Given the description of an element on the screen output the (x, y) to click on. 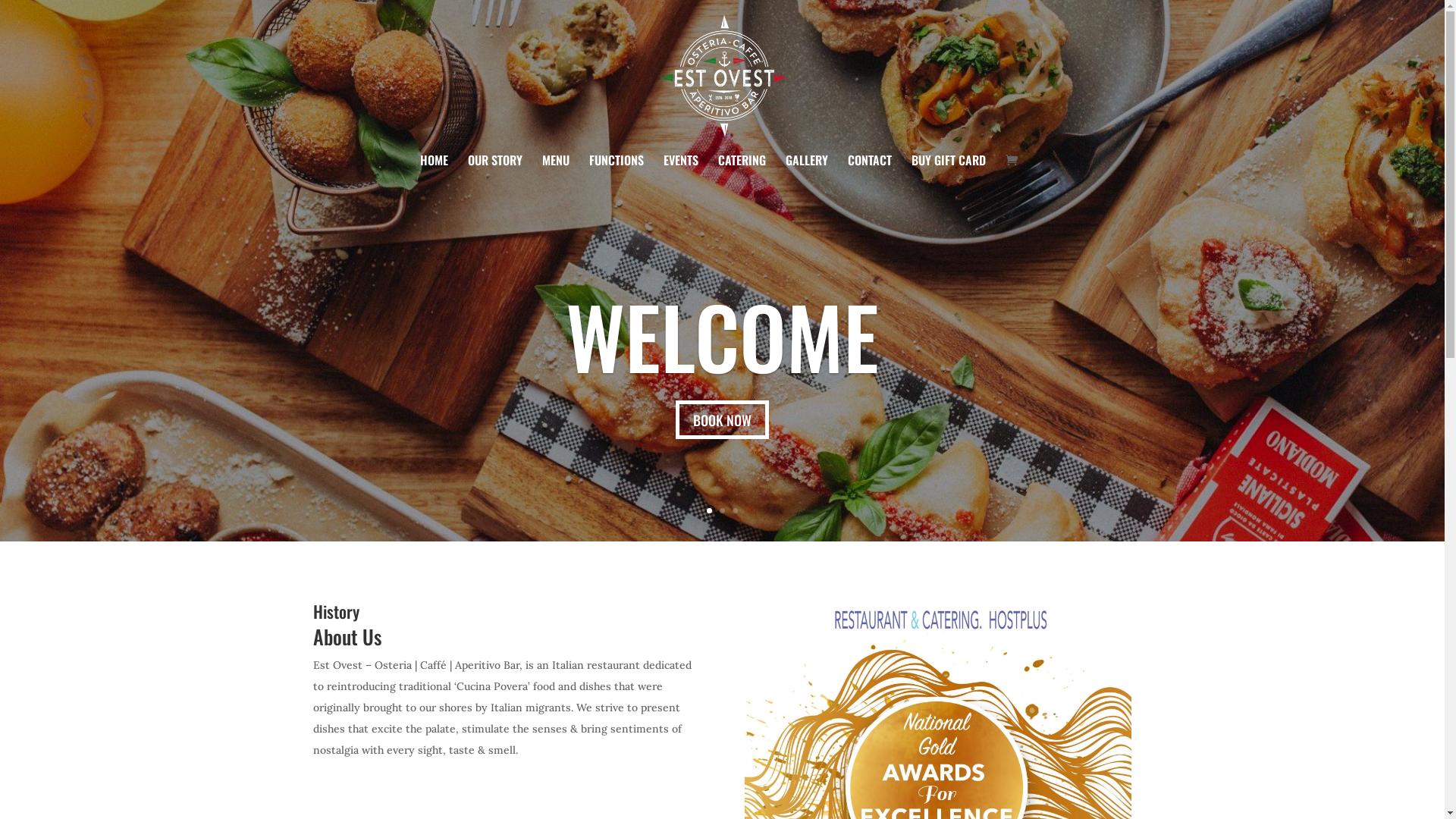
WELCOME Element type: text (721, 335)
MENU Element type: text (554, 173)
BUY GIFT CARD Element type: text (948, 173)
OUR STORY Element type: text (494, 173)
2 Element type: text (721, 510)
GALLERY Element type: text (806, 173)
CONTACT Element type: text (869, 173)
FUNCTIONS Element type: text (615, 173)
EVENTS Element type: text (679, 173)
CATERING Element type: text (741, 173)
3 Element type: text (734, 510)
1 Element type: text (709, 510)
BOOK NOW Element type: text (721, 419)
HOME Element type: text (434, 173)
